Given the description of an element on the screen output the (x, y) to click on. 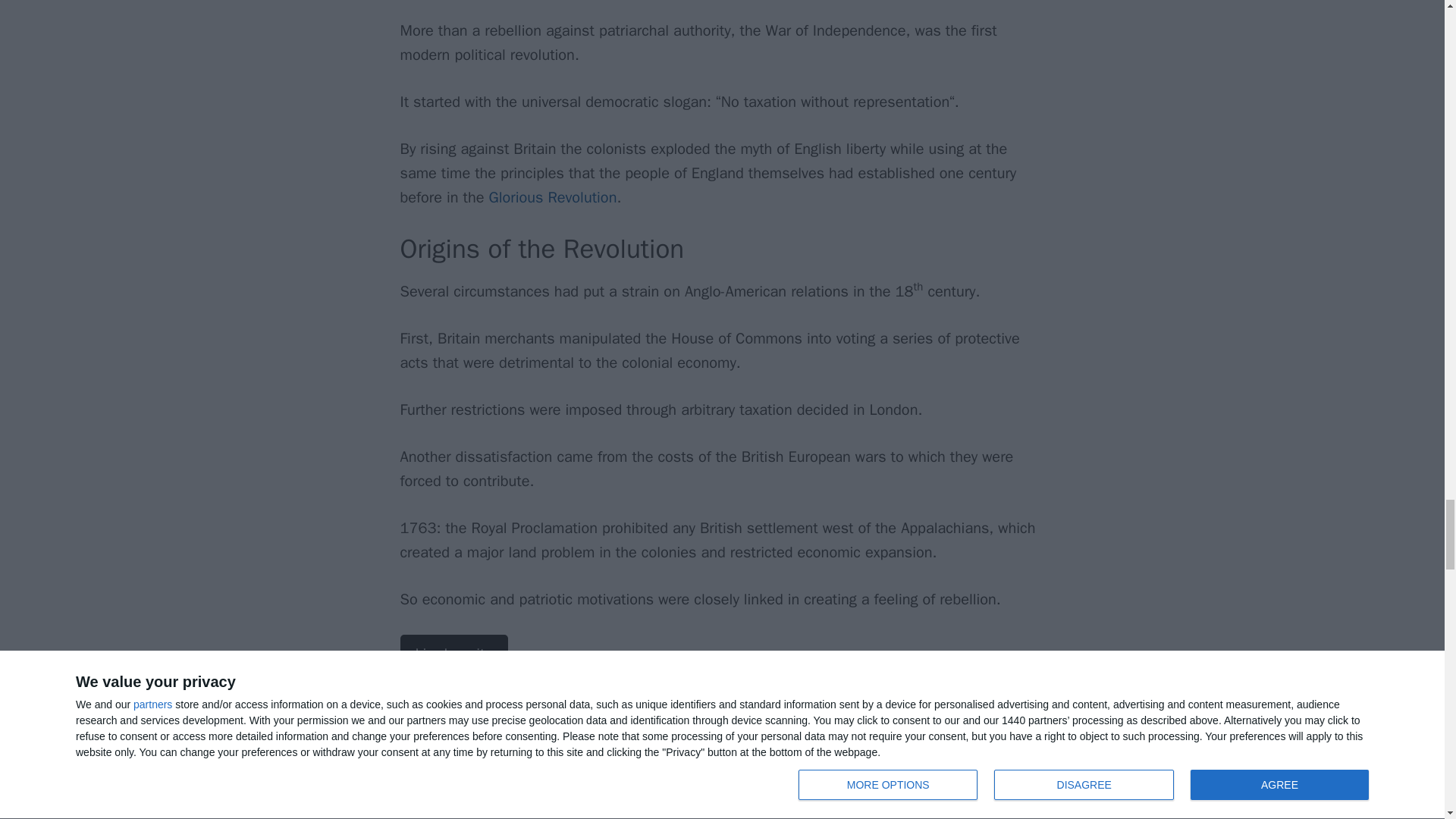
USA: Birth of a Nation (454, 654)
